Given the description of an element on the screen output the (x, y) to click on. 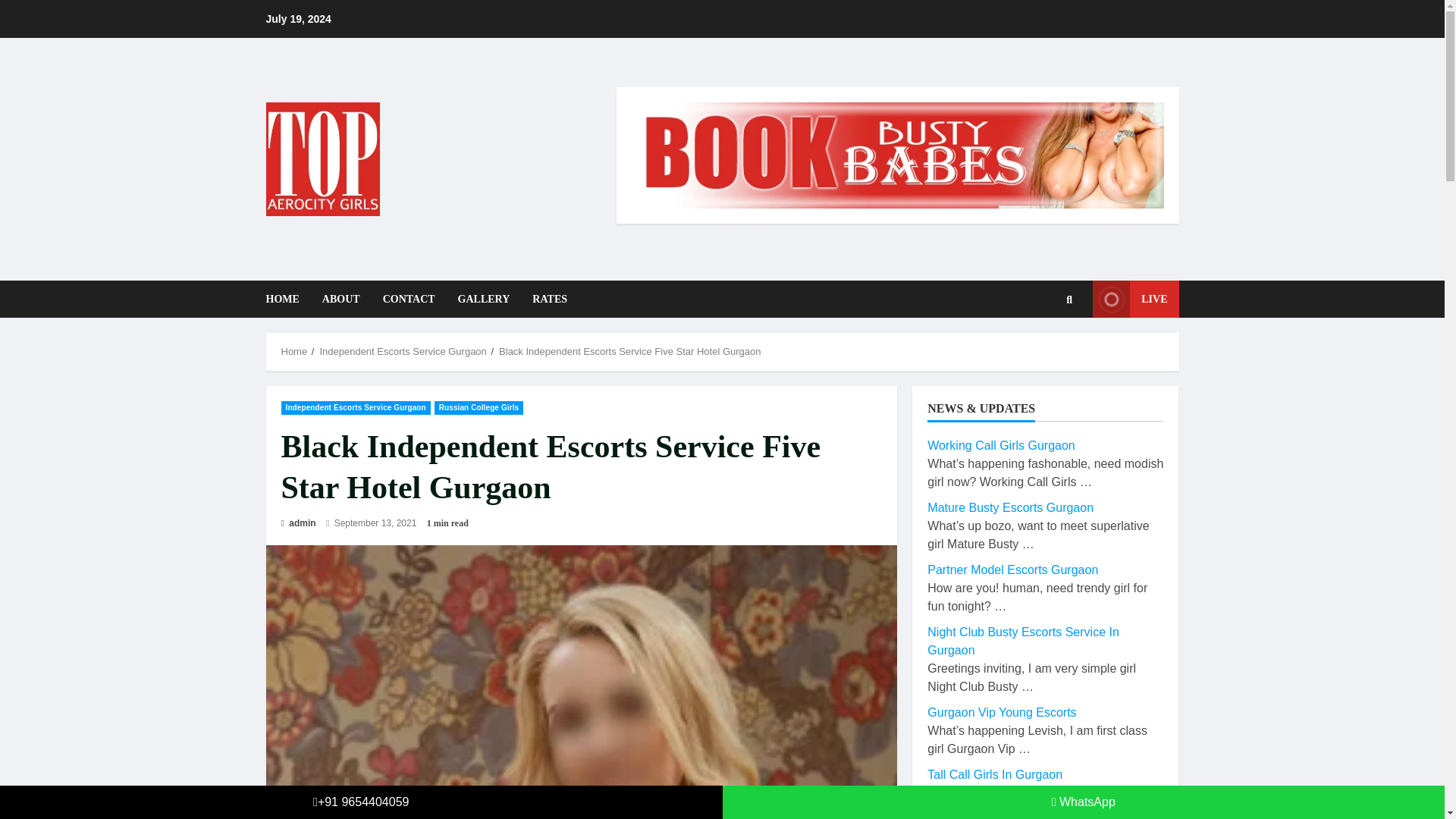
CONTACT (408, 298)
admin (298, 522)
Independent Escorts Service Gurgaon (355, 407)
Russian College Girls (477, 407)
ABOUT (341, 298)
GALLERY (483, 298)
Black Independent Escorts Service Five Star Hotel Gurgaon (629, 351)
Working Call Girls Gurgaon (1000, 445)
LIVE (1135, 298)
Search (1045, 350)
HOME (287, 298)
Home (294, 351)
Independent Escorts Service Gurgaon (402, 351)
RATES (544, 298)
